Given the description of an element on the screen output the (x, y) to click on. 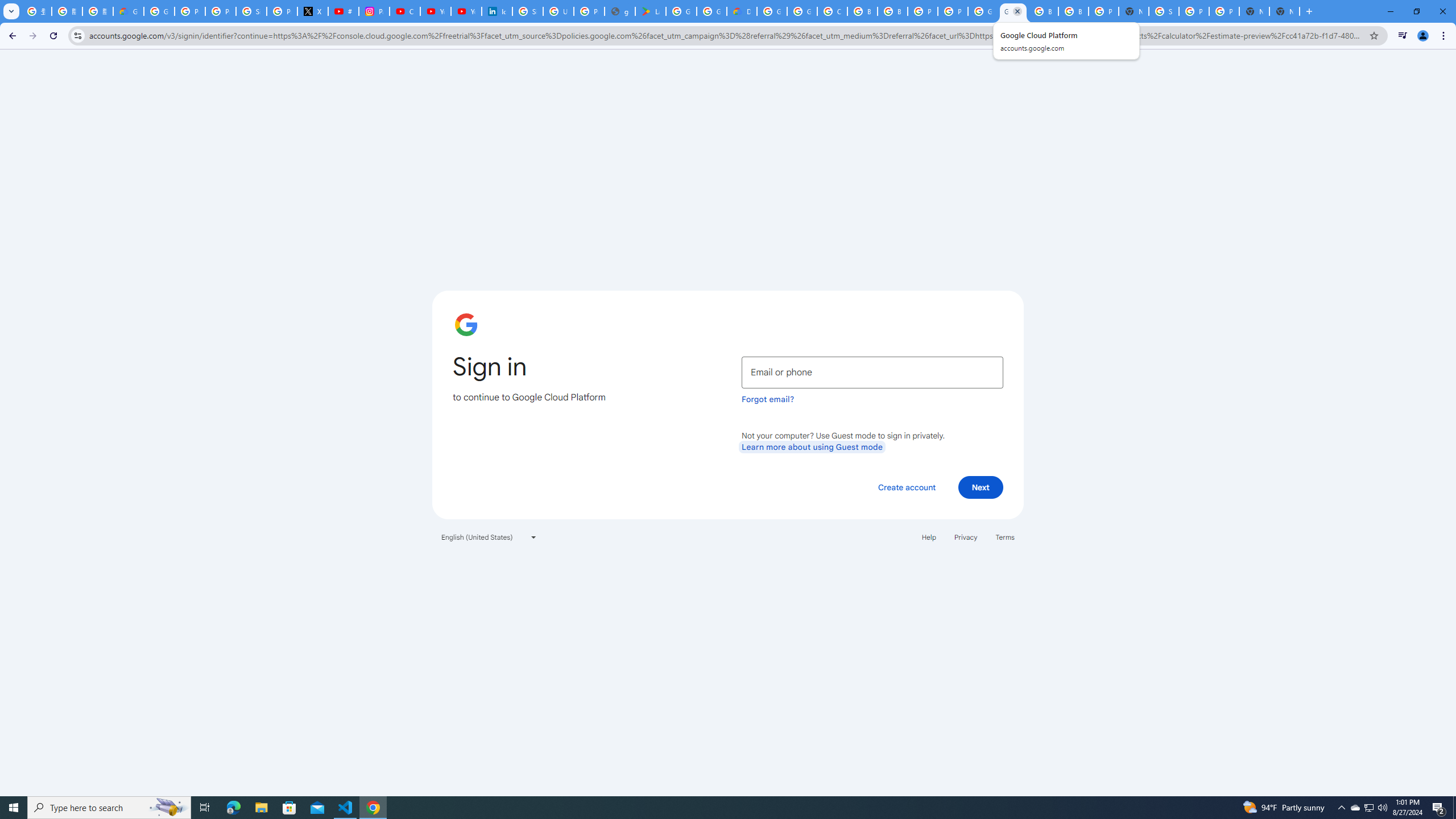
New Tab (1283, 11)
Sign in - Google Accounts (251, 11)
Google Workspace - Specific Terms (711, 11)
Google Cloud Platform (982, 11)
Next (980, 486)
